Given the description of an element on the screen output the (x, y) to click on. 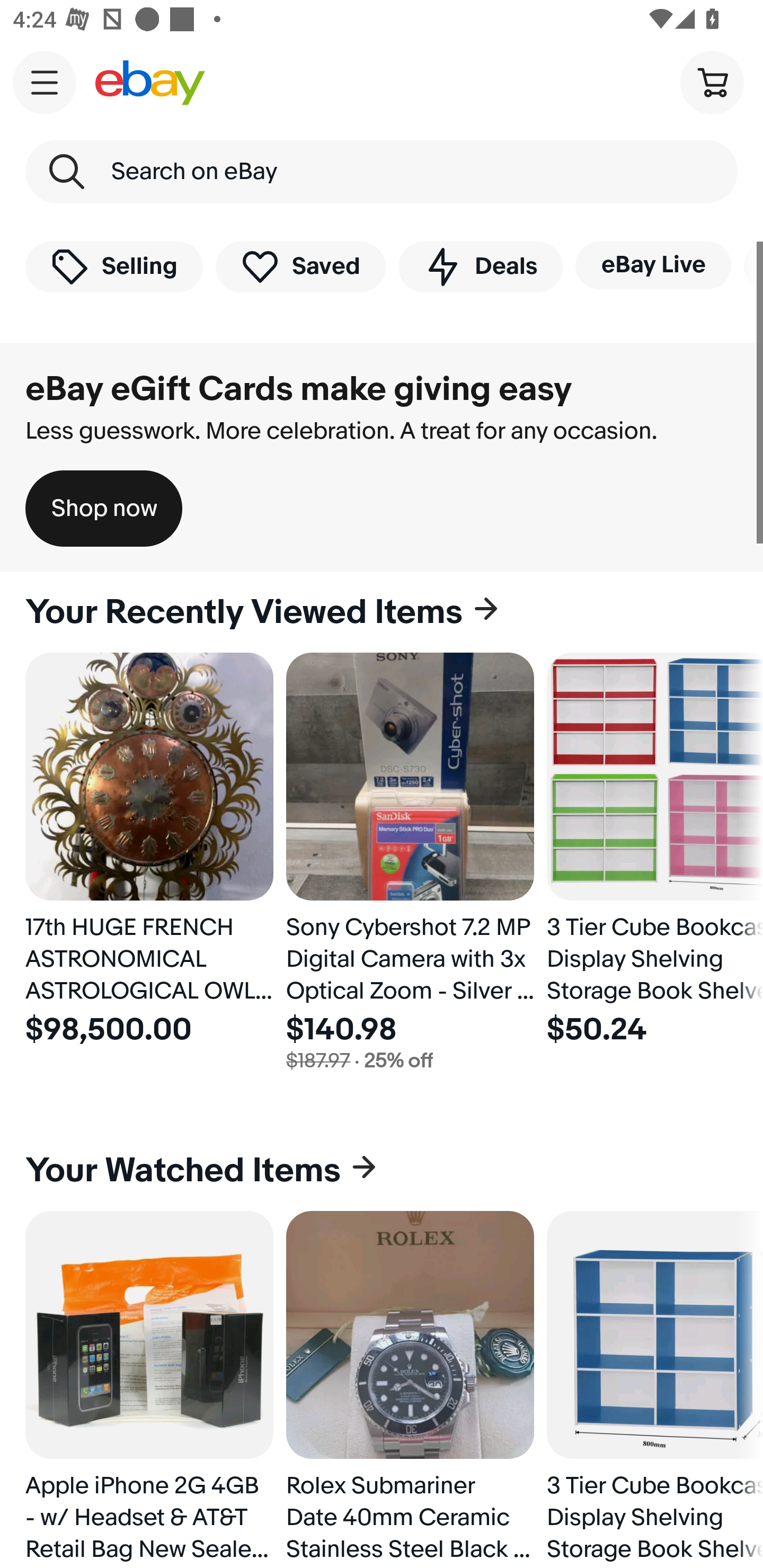
Main navigation, open (44, 82)
Cart button shopping cart (711, 81)
Search on eBay Search Keyword Search on eBay (381, 171)
Selling (113, 266)
Saved (300, 266)
Deals (480, 266)
eBay Live (652, 264)
eBay eGift Cards make giving easy (298, 389)
Shop now (103, 508)
Your Recently Viewed Items   (381, 612)
Your Watched Items   (381, 1170)
